Given the description of an element on the screen output the (x, y) to click on. 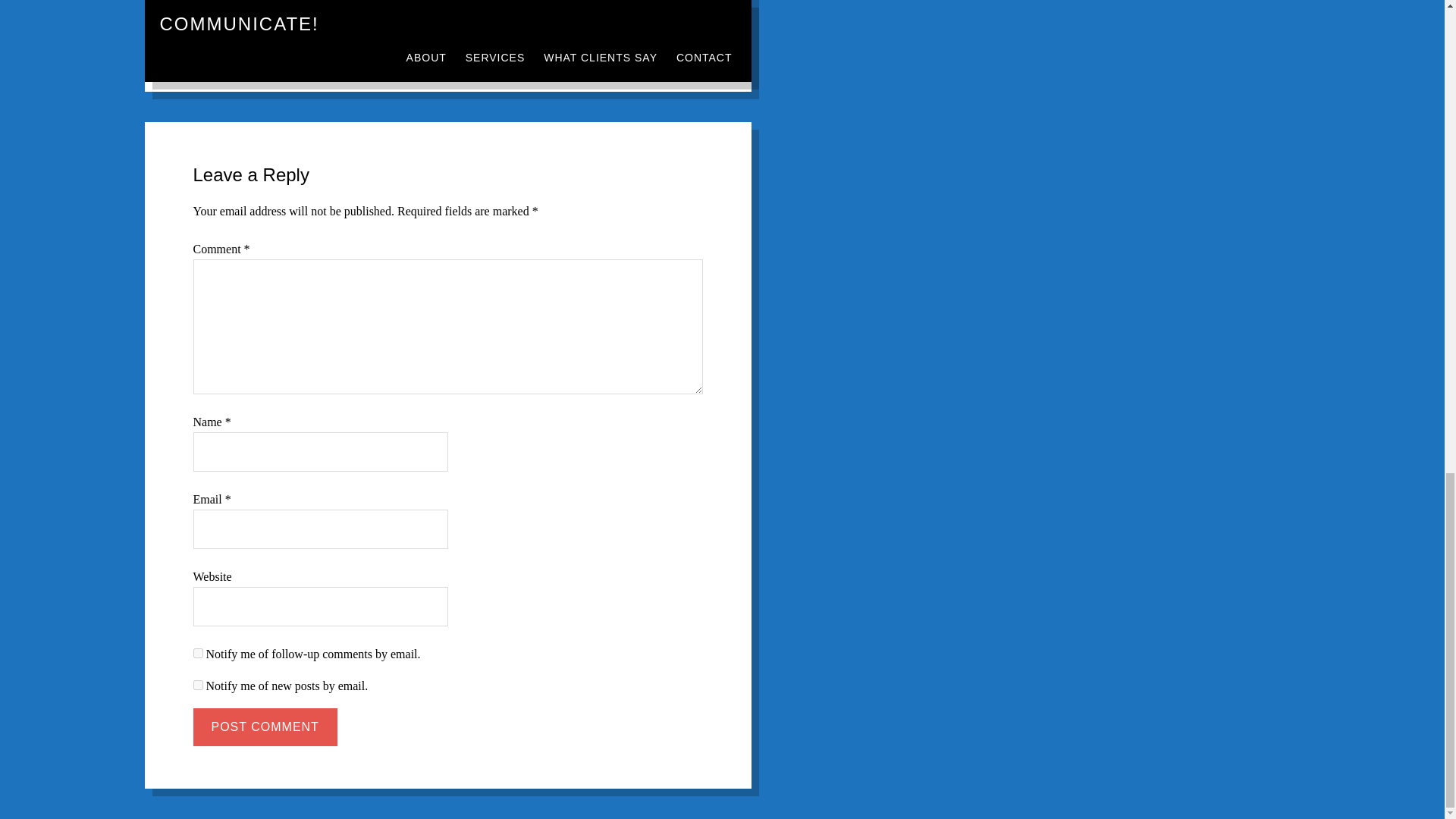
APRIL FOOL'S DAY (335, 33)
Post Comment (264, 727)
NONPROFIT (422, 17)
COMMUNICATING (329, 17)
SHAKESPEARE (478, 33)
subscribe (197, 653)
subscribe (197, 685)
FOOL (412, 33)
Post Comment (264, 727)
